Given the description of an element on the screen output the (x, y) to click on. 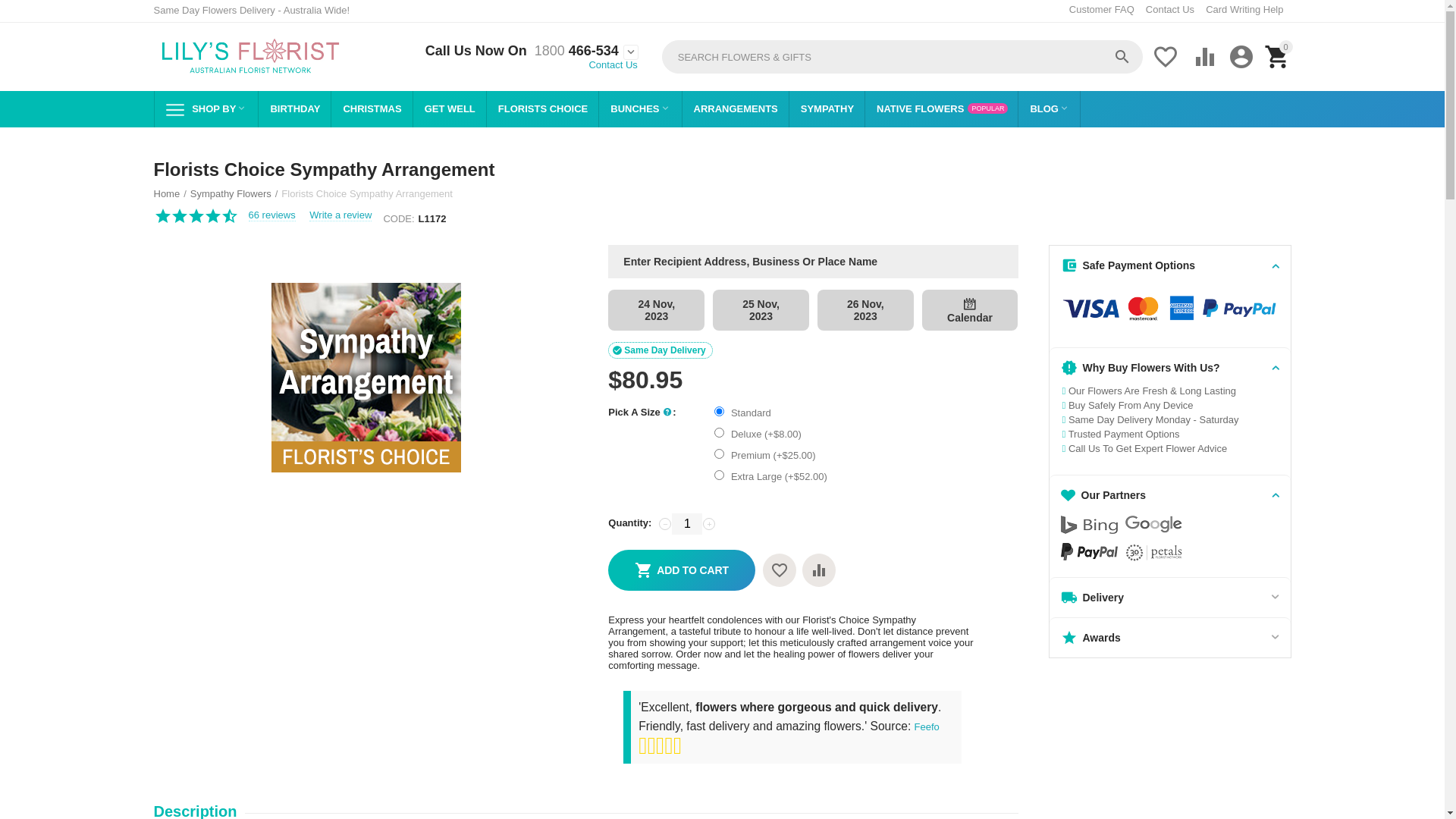
66 reviews Element type: text (271, 215)
675 Element type: text (719, 453)
Calendar Element type: hover (969, 303)
Contact Us Element type: text (1169, 9)
Sympathy Flowers Element type: text (230, 194)
GET WELL Element type: text (449, 109)
Search flowers & gifts Element type: hover (902, 56)
SYMPATHY Element type: text (826, 109)
FLORISTS CHOICE Element type: text (542, 109)
Contact Us Element type: text (612, 64)
761 Element type: text (719, 475)
674 Element type: text (719, 432)
Customer FAQ Element type: text (1101, 9)
ARRANGEMENTS Element type: text (735, 109)
CHRISTMAS Element type: text (371, 109)
+ Element type: text (708, 523)
673 Element type: text (719, 411)
BIRTHDAY Element type: text (294, 109)
1800 466-534 Element type: text (572, 51)
Calendar Element type: text (970, 309)
Card Writing Help Element type: text (1244, 9)
Home Element type: text (166, 194)
Compare Flowers Element type: hover (818, 569)
Add to wish list Element type: hover (779, 569)
Enter Recipient Address, Business Or Place Name Element type: hover (812, 261)
ADD TO CART Element type: text (681, 569)
Call Us Now On Element type: text (476, 51)
Write a review Element type: text (340, 215)
Florists Choice Sympathy Arrangement Element type: hover (365, 377)
Feefo Element type: text (926, 726)
Florists Choice Sympathy Arrangement Element type: hover (365, 377)
NATIVE FLOWERS
POPULAR Element type: text (941, 109)
